Given the description of an element on the screen output the (x, y) to click on. 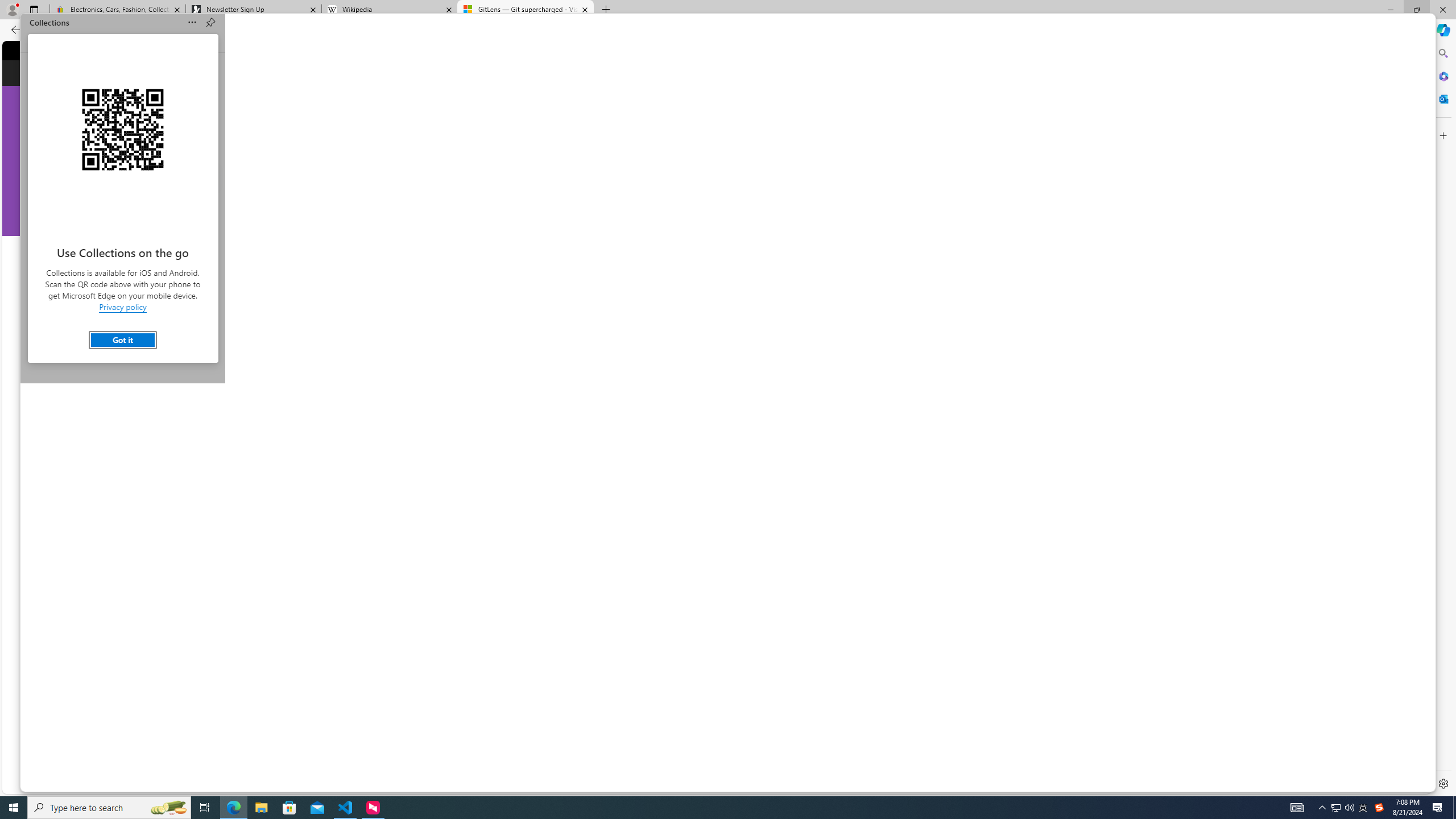
Pin Collections (210, 22)
Start new collection (122, 336)
Sort (192, 22)
